Given the description of an element on the screen output the (x, y) to click on. 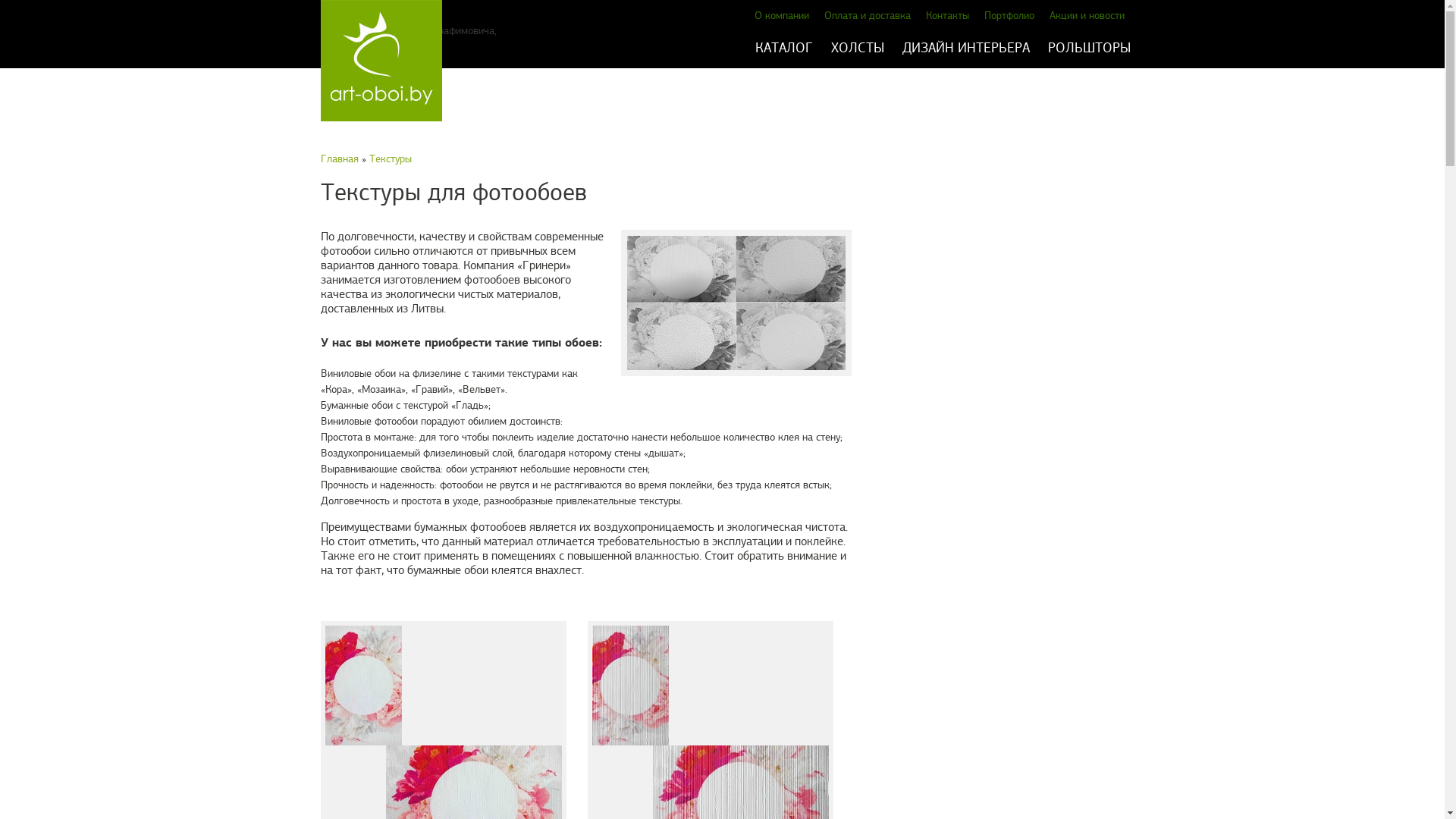
art-oboi.by Element type: text (343, 59)
+375 29 144 05 53 Element type: text (365, 30)
